Given the description of an element on the screen output the (x, y) to click on. 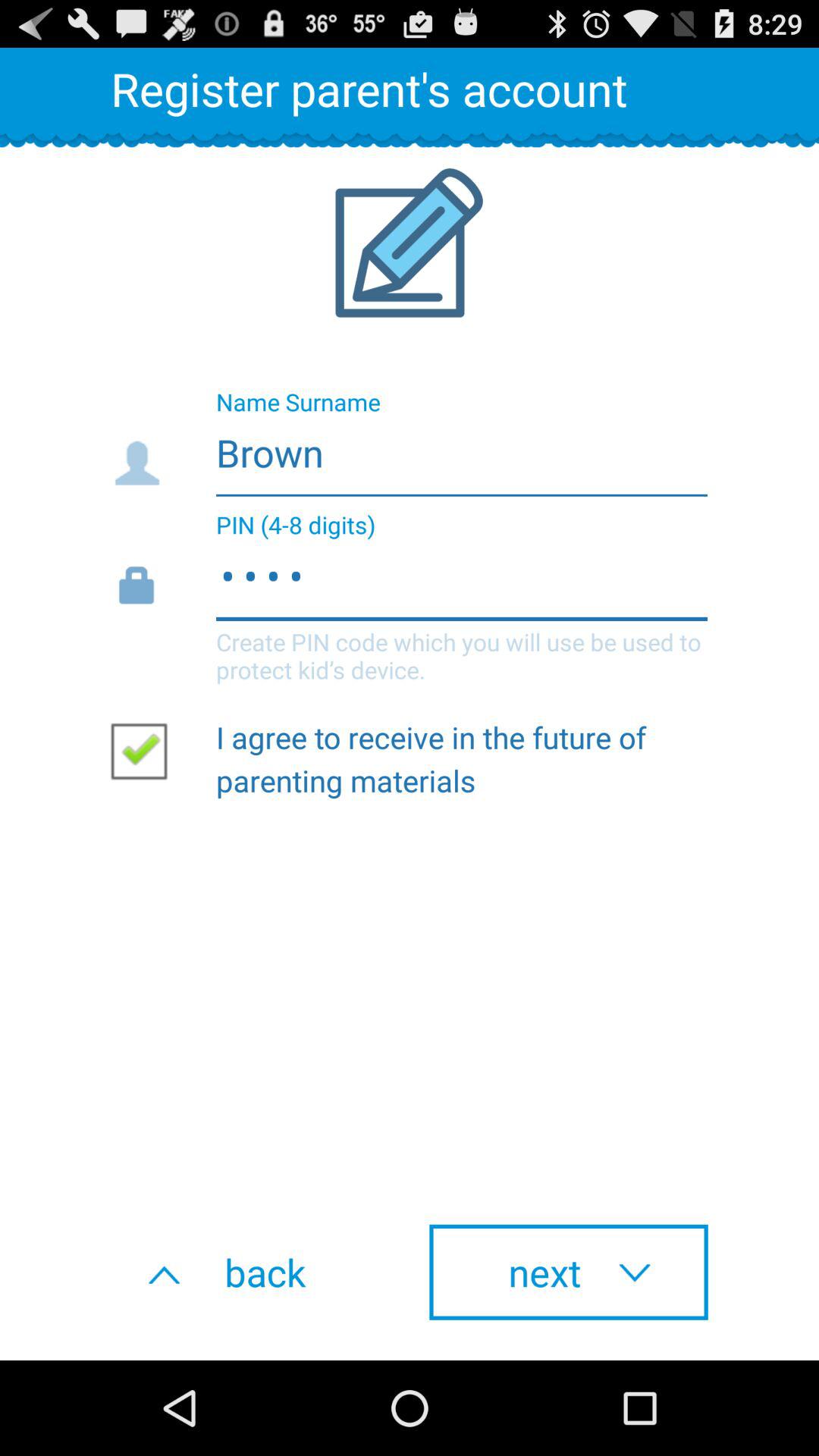
check box to receive future materials (145, 750)
